Given the description of an element on the screen output the (x, y) to click on. 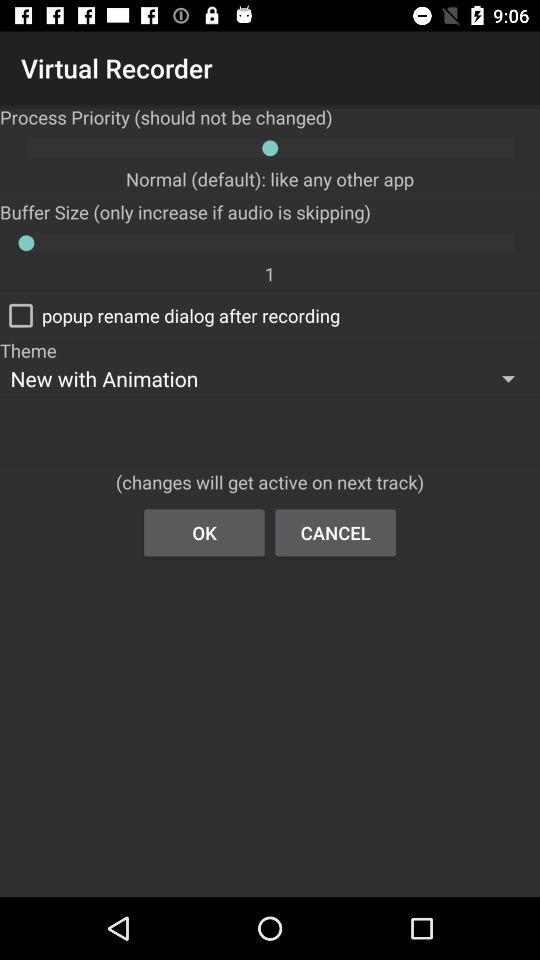
turn off ok icon (204, 532)
